Given the description of an element on the screen output the (x, y) to click on. 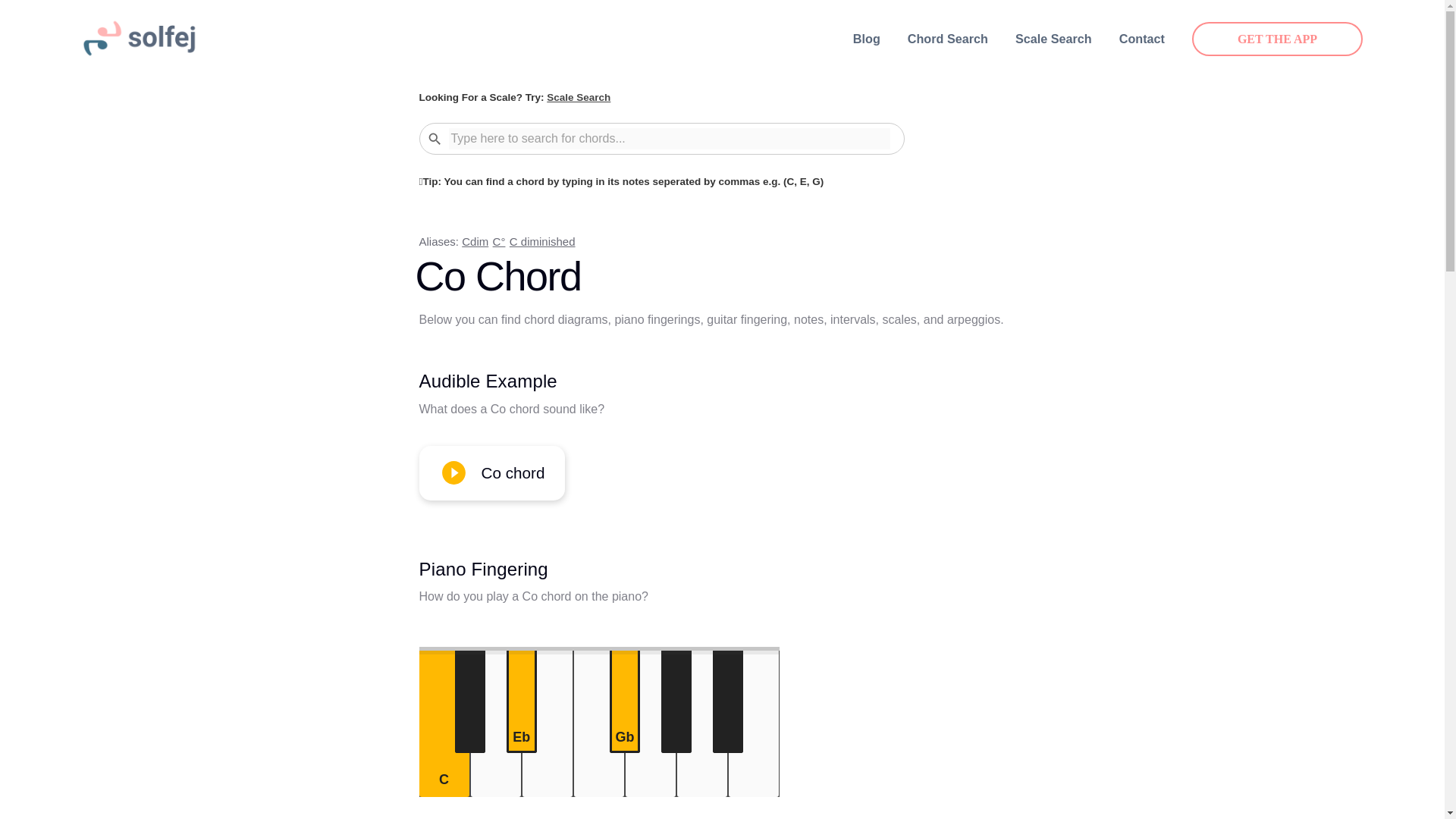
Contact (1141, 38)
Chord Search (947, 38)
GET THE APP (1277, 39)
Cdim (474, 241)
C diminished (542, 241)
GET THE APP (1277, 38)
Scale Search (578, 97)
Scale Search (1053, 38)
